Given the description of an element on the screen output the (x, y) to click on. 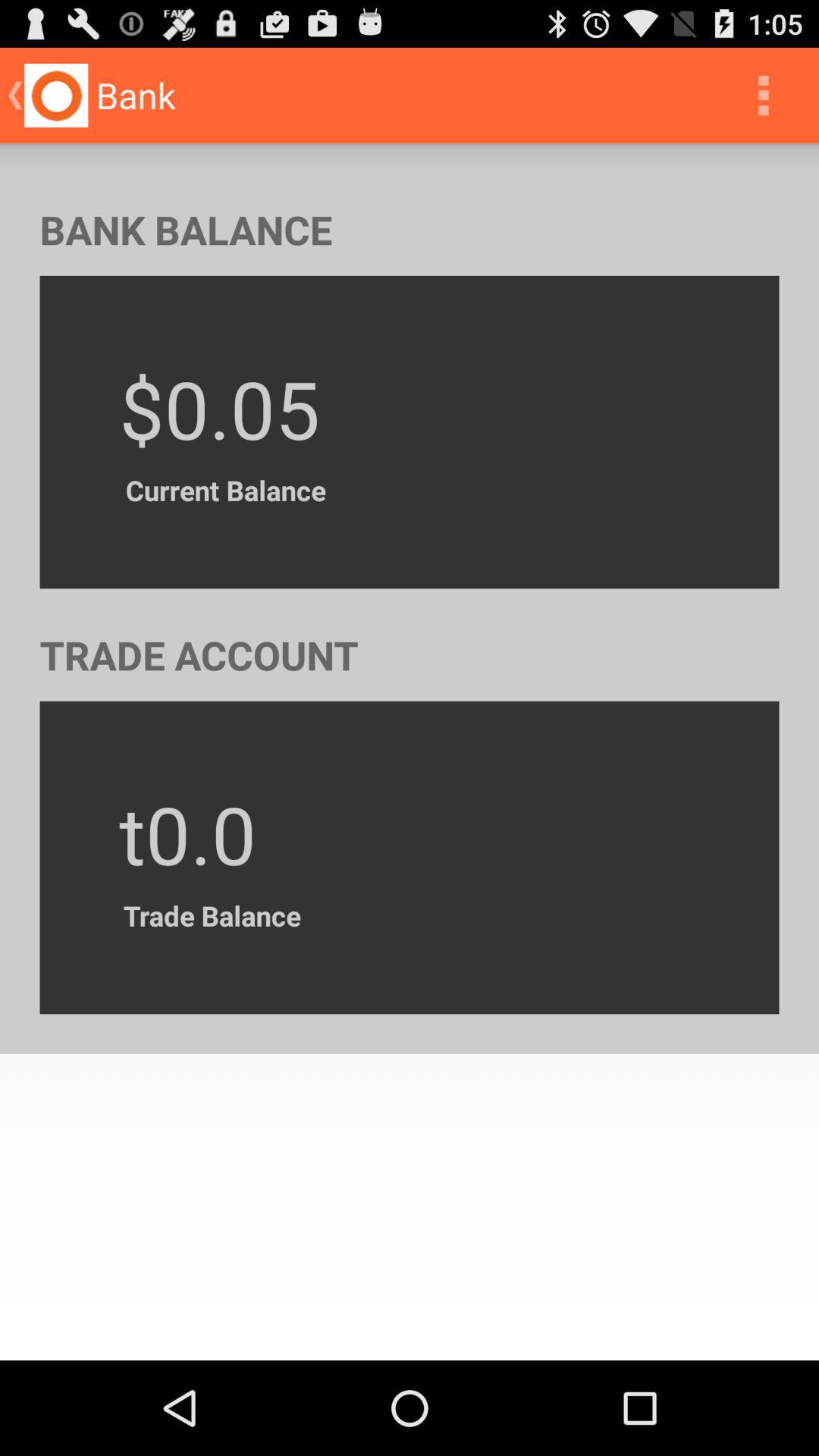
turn off app to the right of the bank item (763, 95)
